Given the description of an element on the screen output the (x, y) to click on. 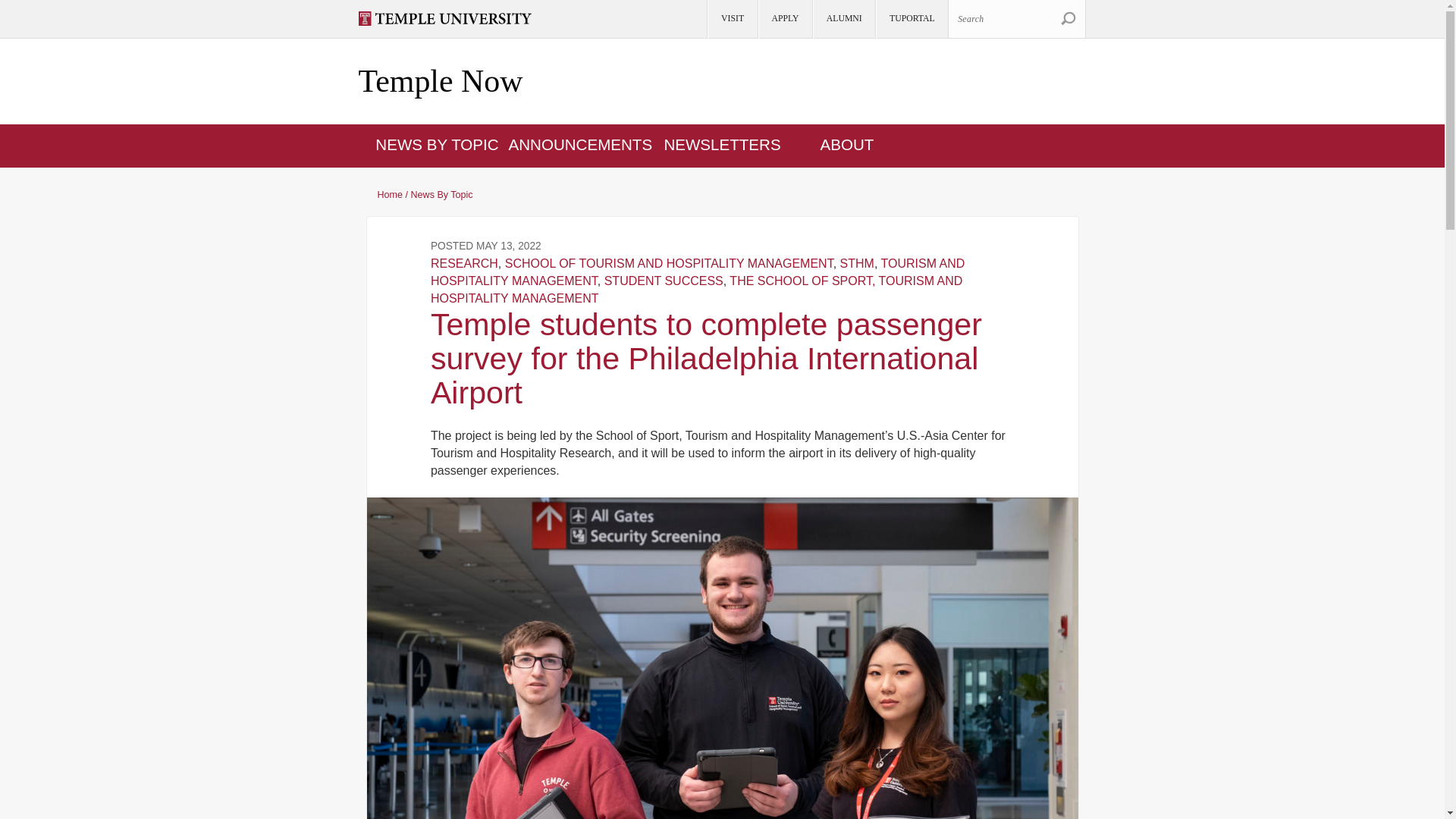
TUPORTAL (911, 19)
Search (1067, 18)
NEWS BY TOPIC (436, 144)
Home (440, 81)
ALUMNI (843, 19)
Search (1067, 18)
NEWSLETTERS (721, 144)
VISIT (731, 19)
ANNOUNCEMENTS (580, 144)
ABOUT (848, 144)
